Given the description of an element on the screen output the (x, y) to click on. 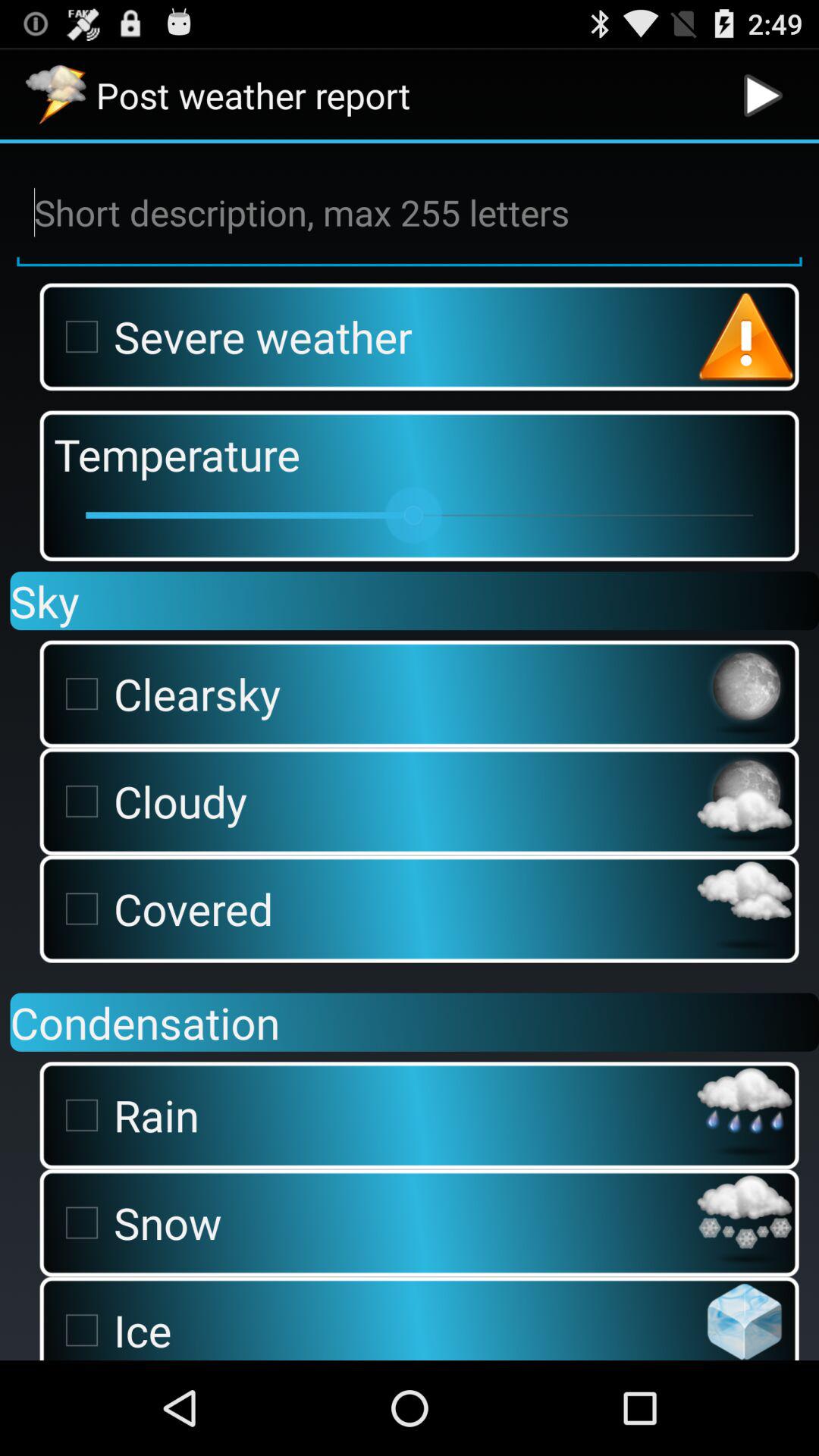
play (763, 95)
